Given the description of an element on the screen output the (x, y) to click on. 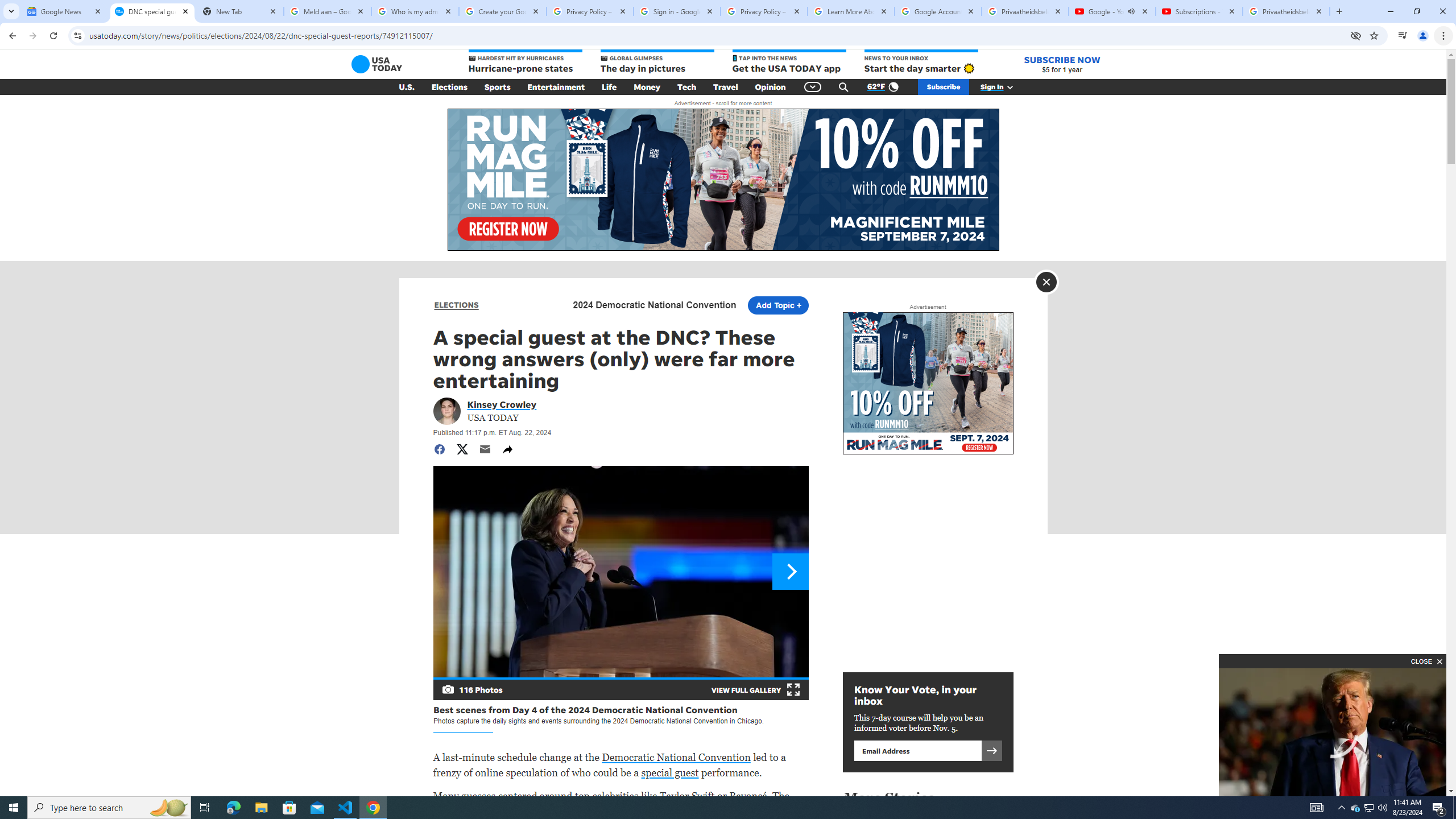
Forward (32, 35)
Google News (64, 11)
System (6, 6)
Taylor Swift (686, 795)
Close (1318, 11)
Share by email (484, 449)
USA TODAY (376, 64)
Mute tab (1130, 10)
U.S. (406, 87)
Address and search bar (715, 35)
Subscribe (943, 87)
New Tab (1338, 11)
Search tabs (10, 11)
